Given the description of an element on the screen output the (x, y) to click on. 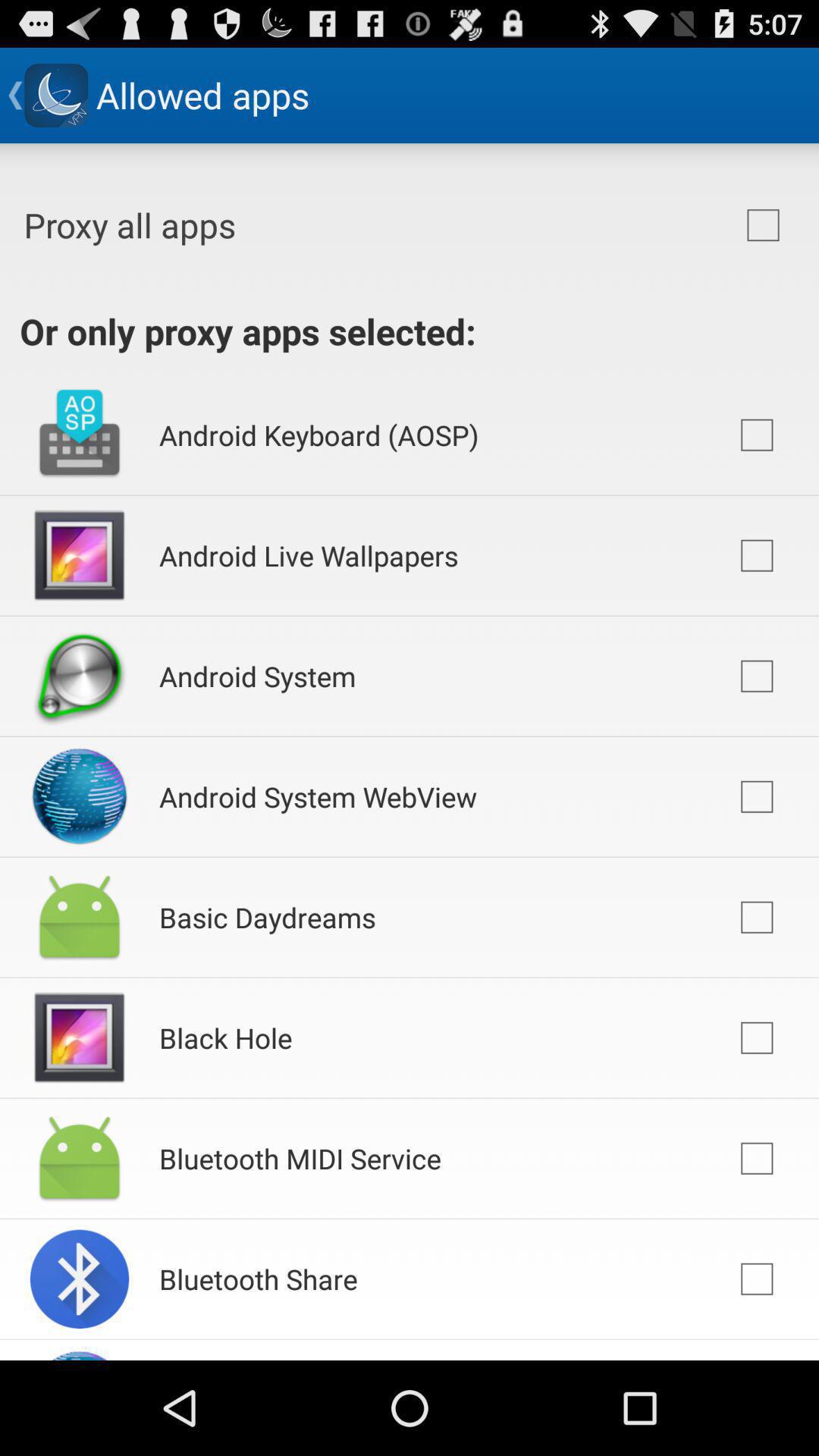
launch the item above or only proxy item (763, 225)
